Given the description of an element on the screen output the (x, y) to click on. 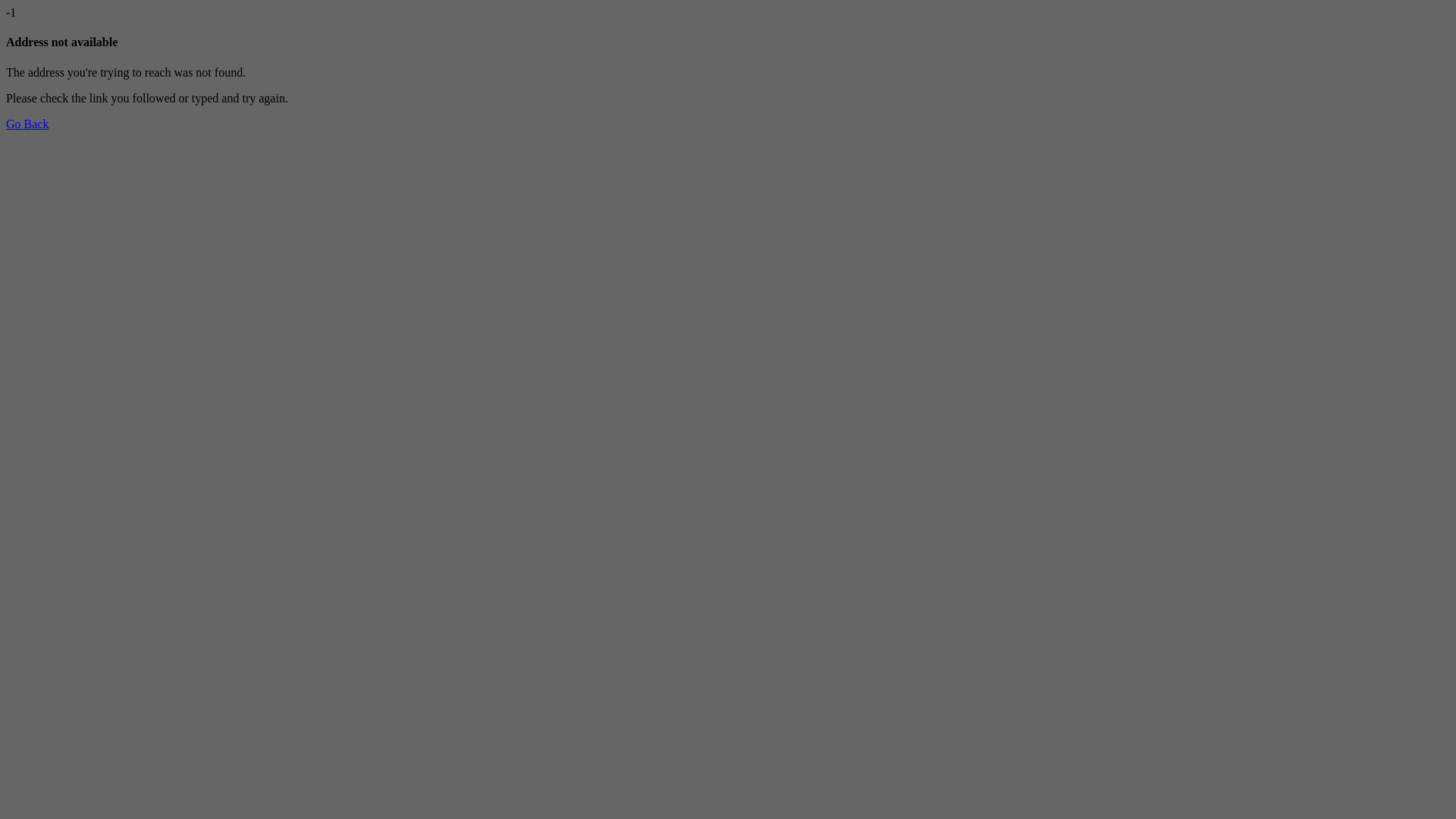
Go Back Element type: text (27, 123)
